Given the description of an element on the screen output the (x, y) to click on. 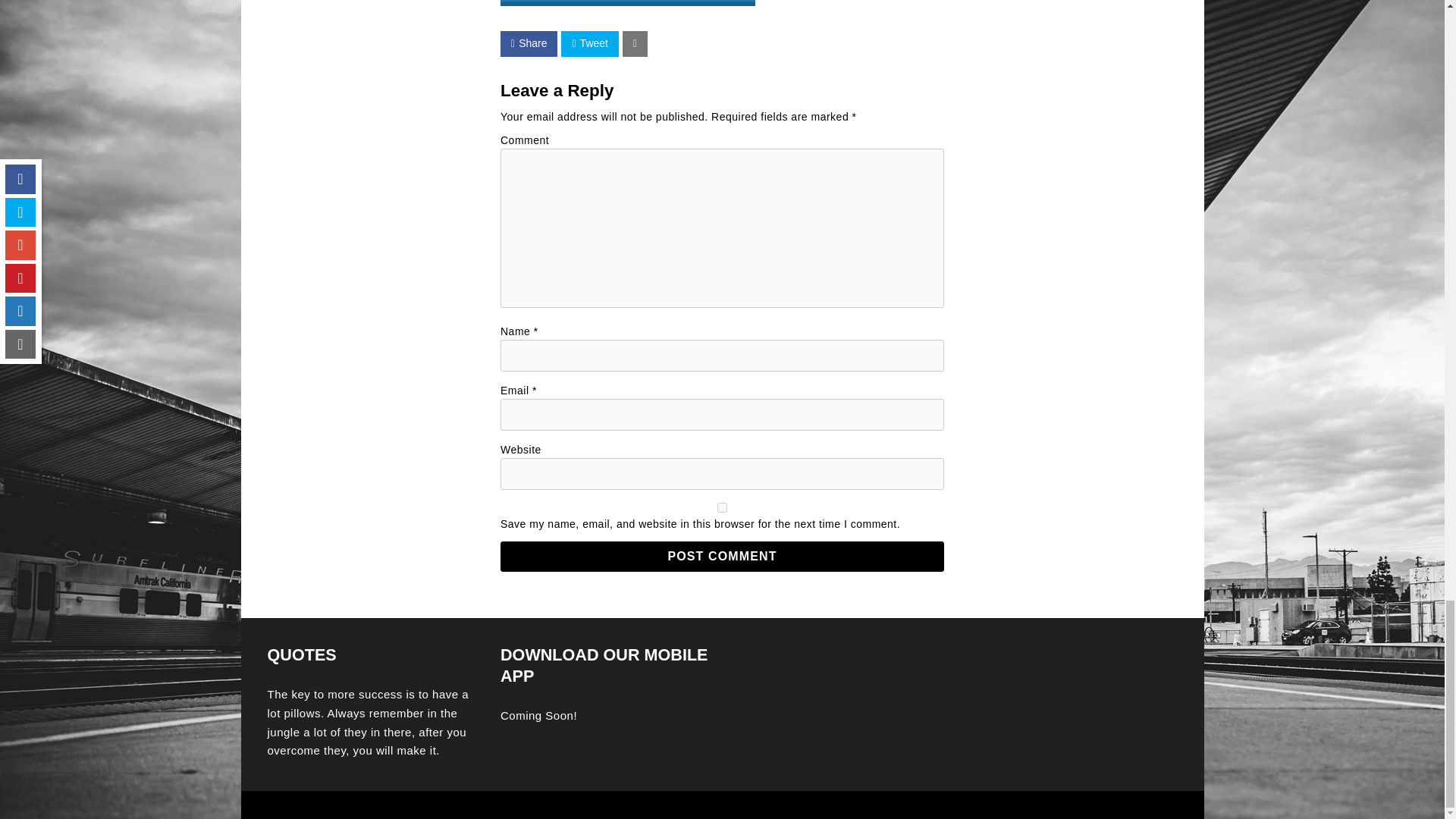
Post Comment (721, 556)
How to Start an Online Business (627, 2)
How to Start an Online Business (627, 4)
Share (528, 43)
Post Comment (721, 556)
Share On Facebook (528, 43)
yes (721, 507)
Tweet on Twitter (588, 43)
Tweet (588, 43)
